Given the description of an element on the screen output the (x, y) to click on. 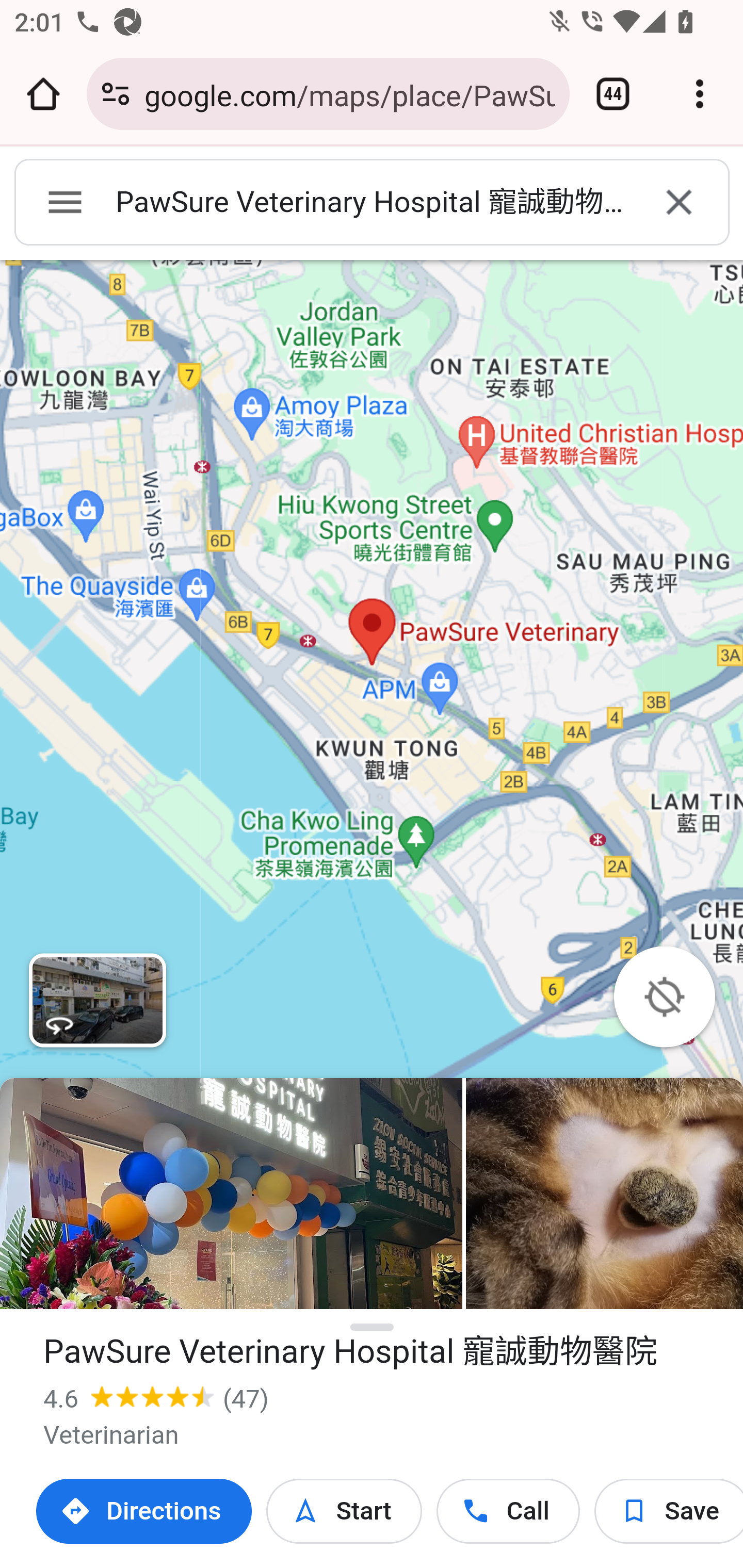
Open the home page (43, 93)
Connection is secure (115, 93)
Switch or close tabs (612, 93)
Customize and control Google Chrome (699, 93)
Photo 1 of 10 (231, 1193)
Photo 2 of 10 (604, 1193)
Show details (372, 1327)
Directions to PawSure Veterinary Hospital 寵誠動物醫院 (144, 1511)
Start (343, 1511)
Call PawSure Veterinary Hospital 寵誠動物醫院  Call (507, 1511)
